Given the description of an element on the screen output the (x, y) to click on. 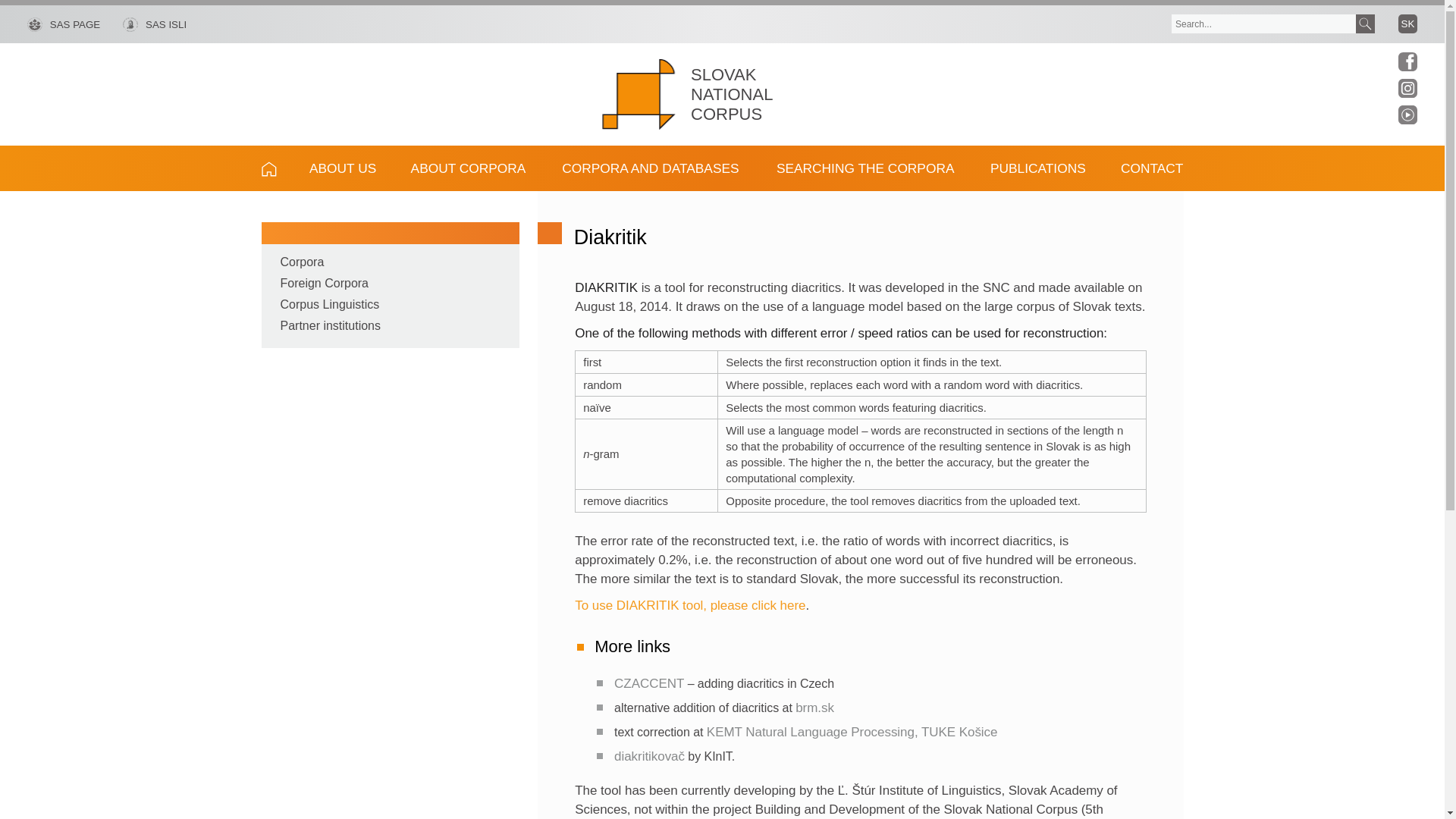
CORPORA AND DATABASES (650, 167)
SEARCHING THE CORPORA (864, 167)
SAS ISLI (143, 23)
ABOUT US (342, 167)
SAS PAGE (63, 23)
ABOUT CORPORA (468, 167)
PUBLICATIONS (1037, 167)
SK (1407, 23)
CONTACT (1143, 167)
Submit (1364, 23)
